Given the description of an element on the screen output the (x, y) to click on. 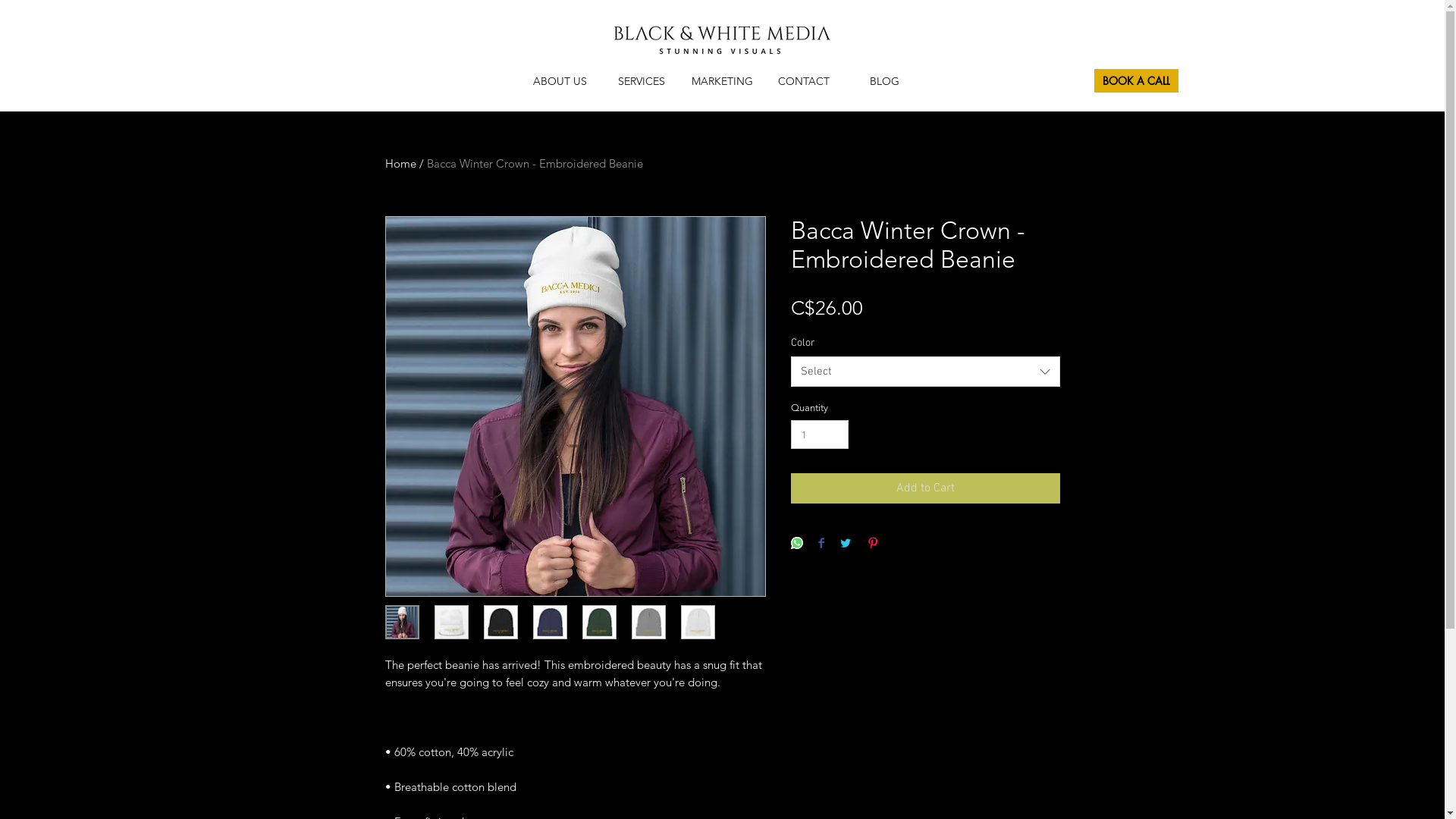
ABOUT US Element type: text (559, 81)
Home Element type: text (400, 163)
Add to Cart Element type: text (924, 488)
SERVICES Element type: text (640, 81)
BOOK A CALL Element type: text (1135, 80)
BLOG Element type: text (884, 81)
Bacca Winter Crown - Embroidered Beanie Element type: text (534, 163)
CONTACT Element type: text (803, 81)
MARKETING Element type: text (721, 81)
Select Element type: text (924, 371)
